Given the description of an element on the screen output the (x, y) to click on. 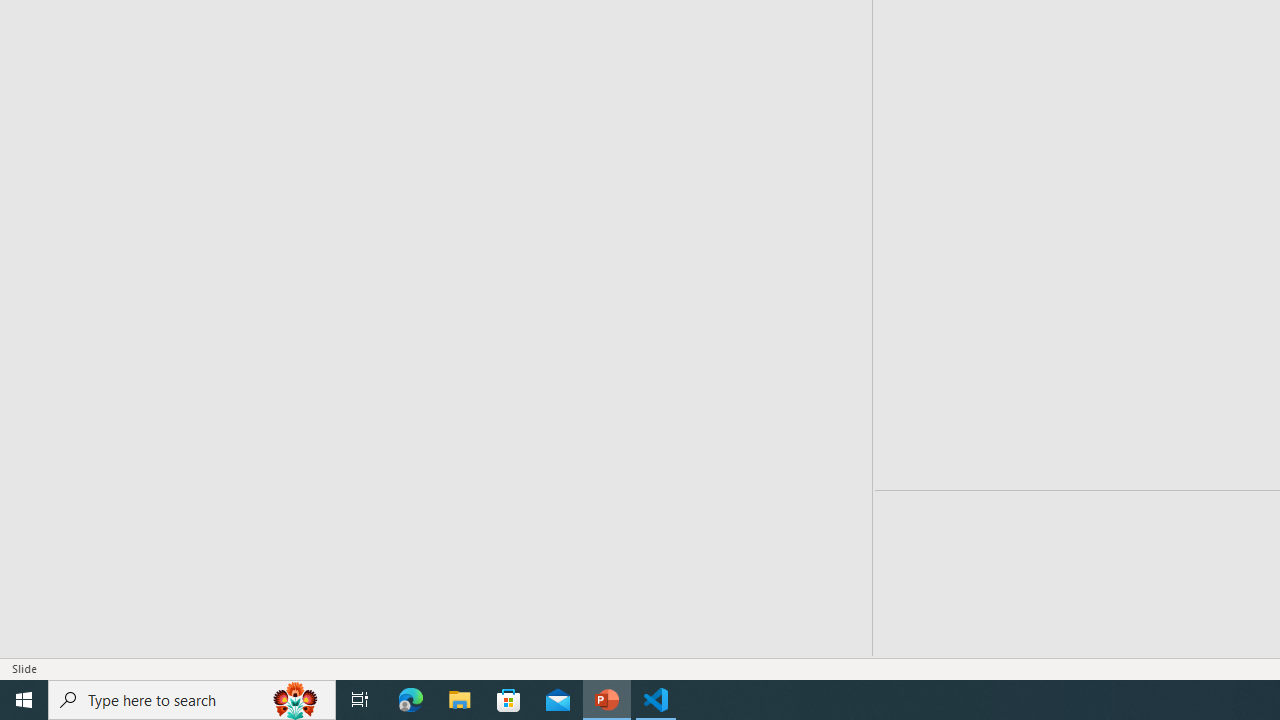
Type here to search (191, 699)
Visual Studio Code - 1 running window (656, 699)
Start (24, 699)
PowerPoint - 1 running window (607, 699)
Search highlights icon opens search home window (295, 699)
File Explorer (460, 699)
Microsoft Store (509, 699)
Microsoft Edge (411, 699)
Task View (359, 699)
